Given the description of an element on the screen output the (x, y) to click on. 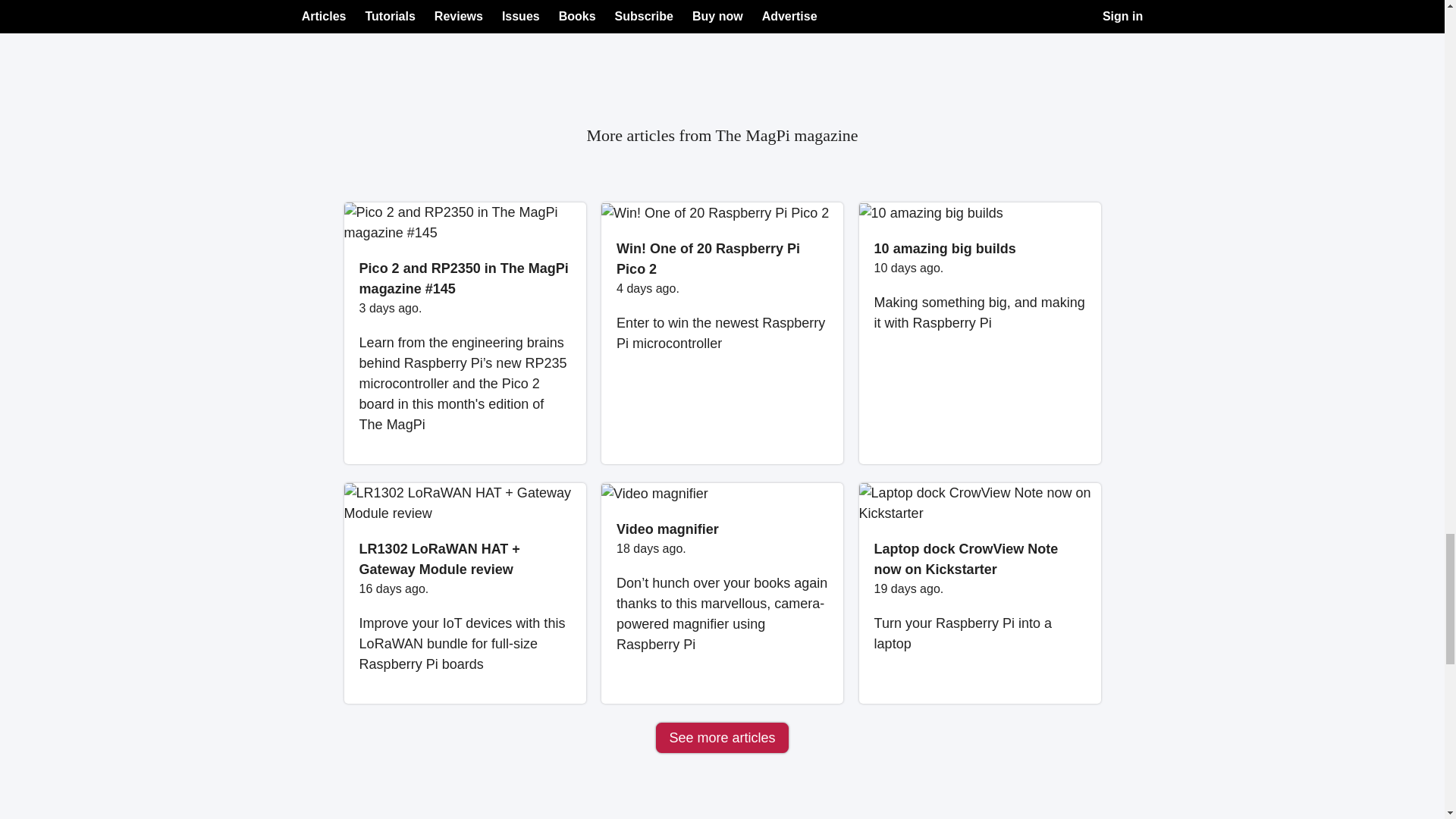
See more articles (721, 737)
